Given the description of an element on the screen output the (x, y) to click on. 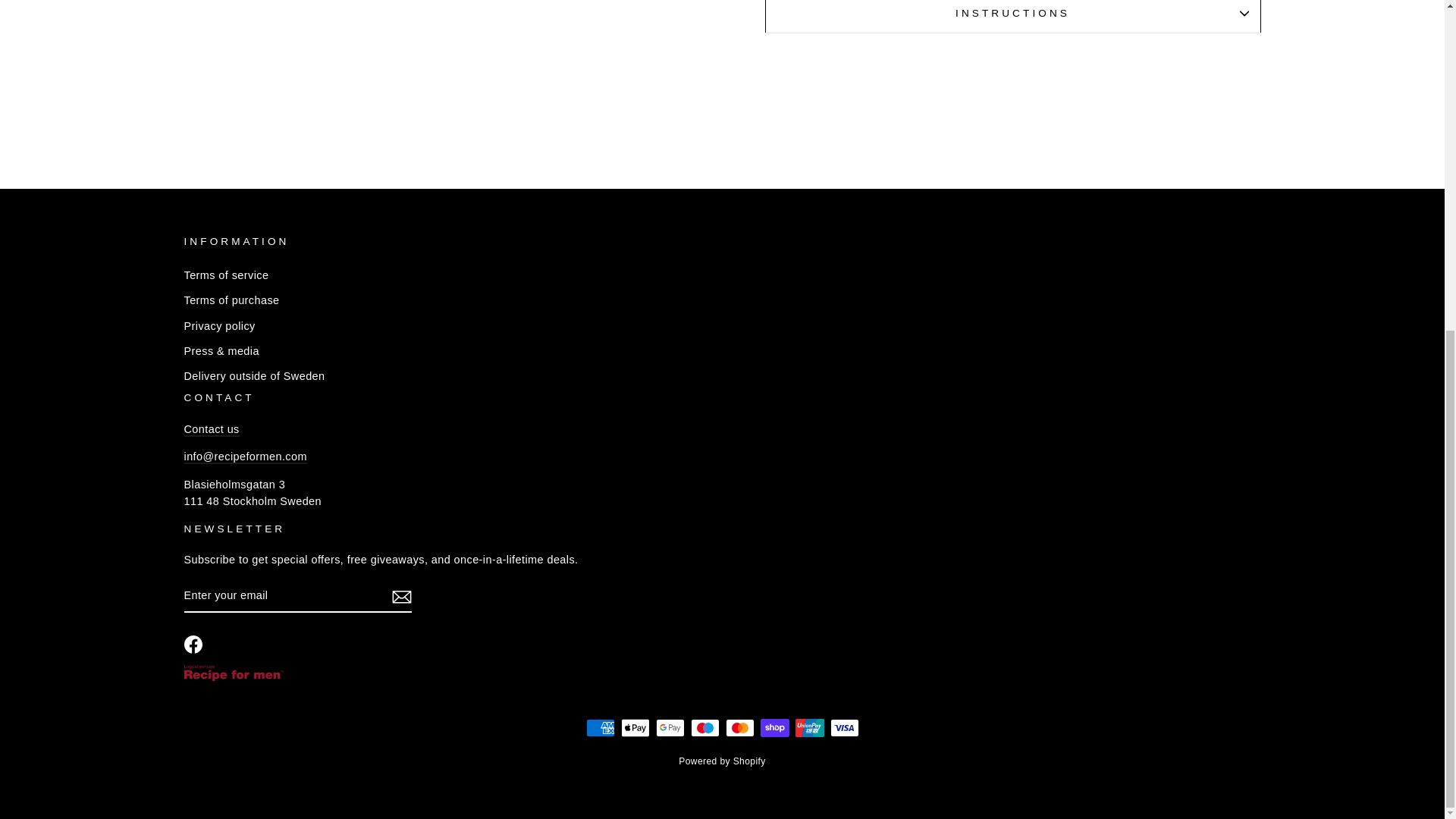
Mastercard (739, 728)
Contact (210, 429)
Visa (844, 728)
Maestro (704, 728)
Union Pay (809, 728)
Shop Pay (774, 728)
Recipeformen.com on Facebook (192, 644)
Google Pay (669, 728)
American Express (599, 728)
Apple Pay (634, 728)
